Given the description of an element on the screen output the (x, y) to click on. 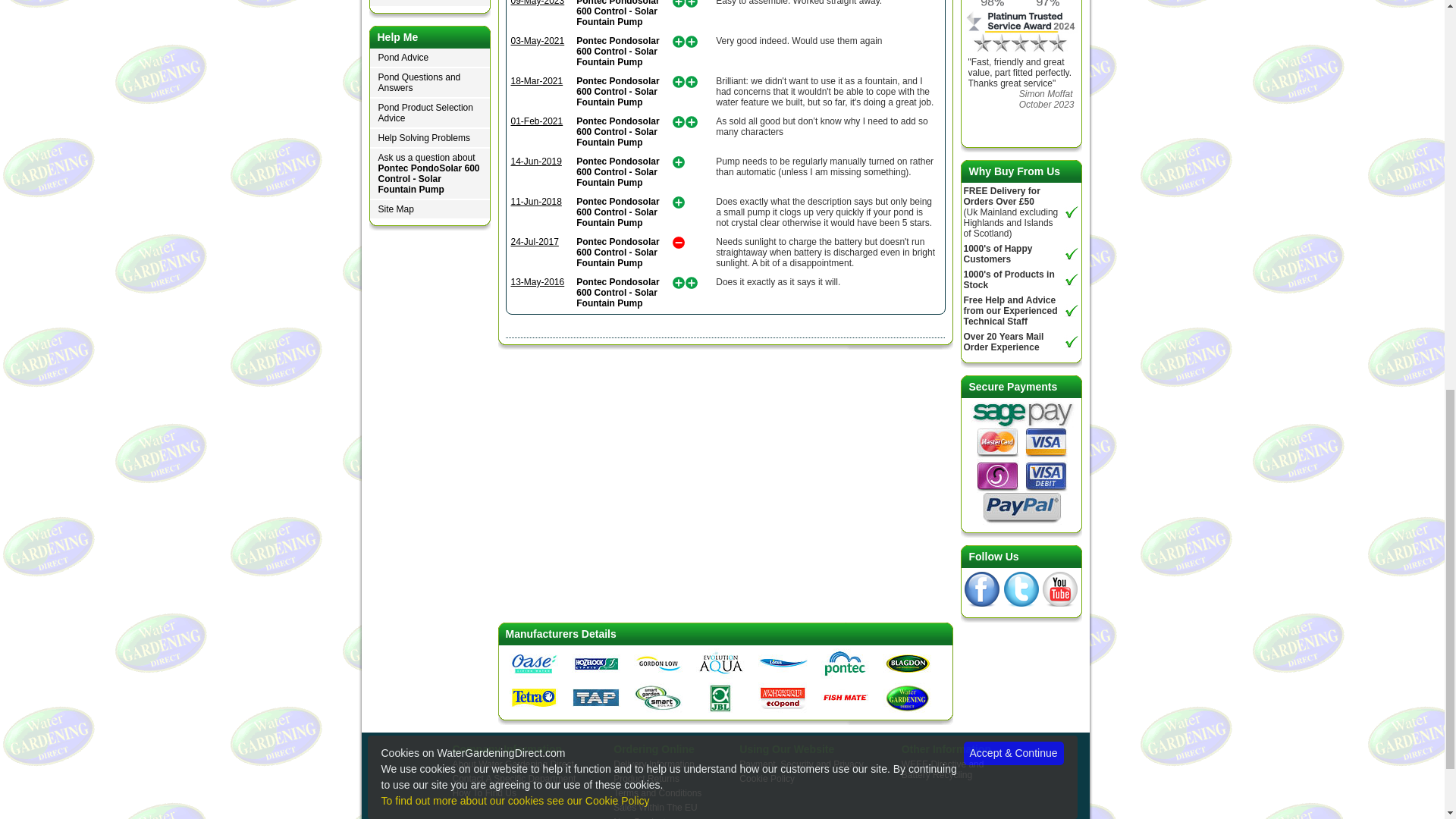
Pond Advice (429, 57)
How to Find Us (429, 3)
Oase - Company and Product Details (534, 662)
Site Map (429, 209)
Pond Questions and Answers (429, 82)
See what our customers say about us (1020, 5)
Help Solving Problems (429, 138)
Pond Product Selection Advice (429, 113)
